Given the description of an element on the screen output the (x, y) to click on. 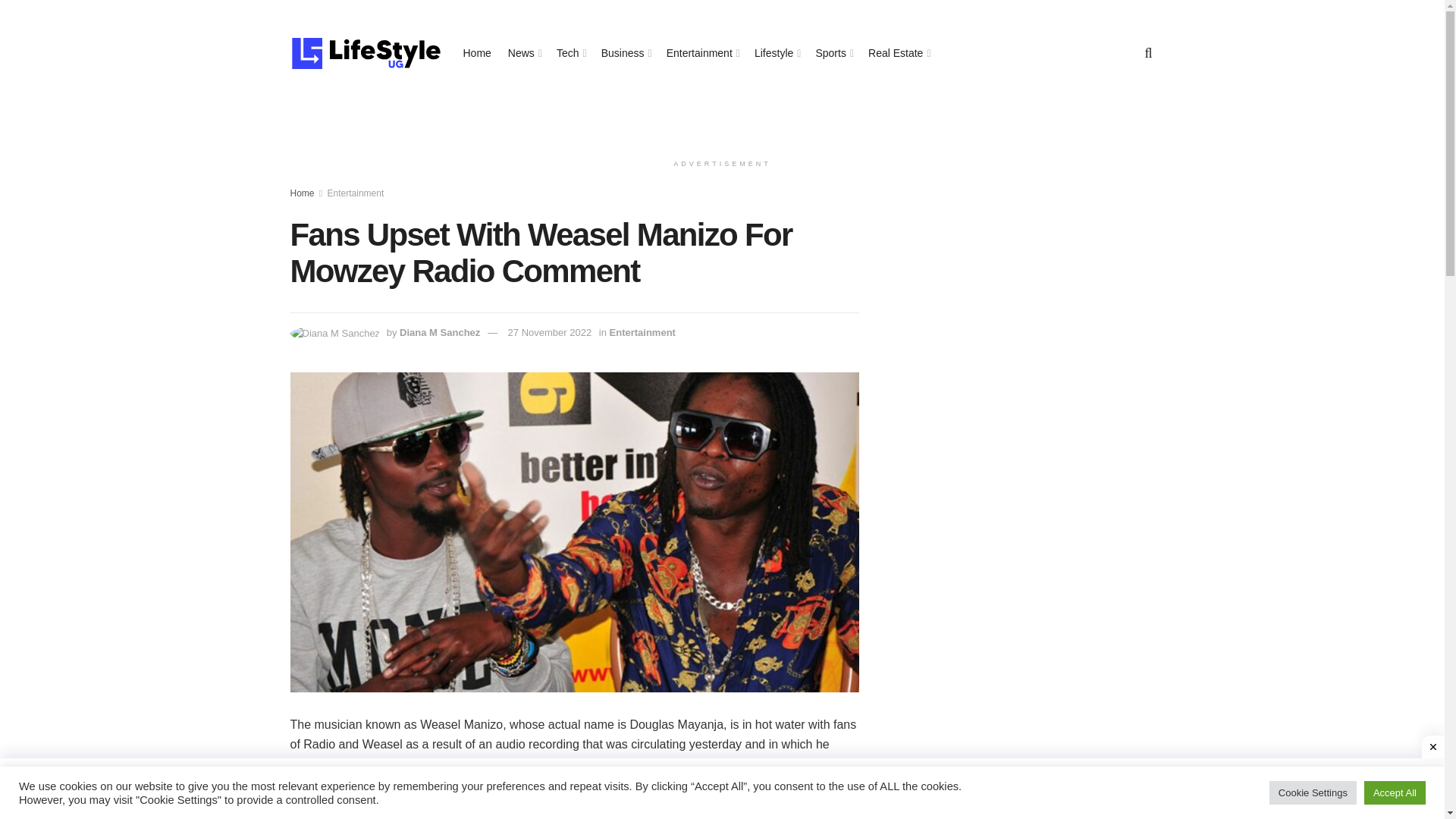
Tech (570, 52)
News (524, 52)
Real Estate (897, 52)
Diana M Sanchez (439, 332)
Entertainment (702, 52)
Entertainment (355, 193)
Lifestyle (775, 52)
27 November 2022 (550, 332)
Home (476, 52)
Sports (833, 52)
Business (625, 52)
Entertainment (642, 332)
Home (301, 193)
